Given the description of an element on the screen output the (x, y) to click on. 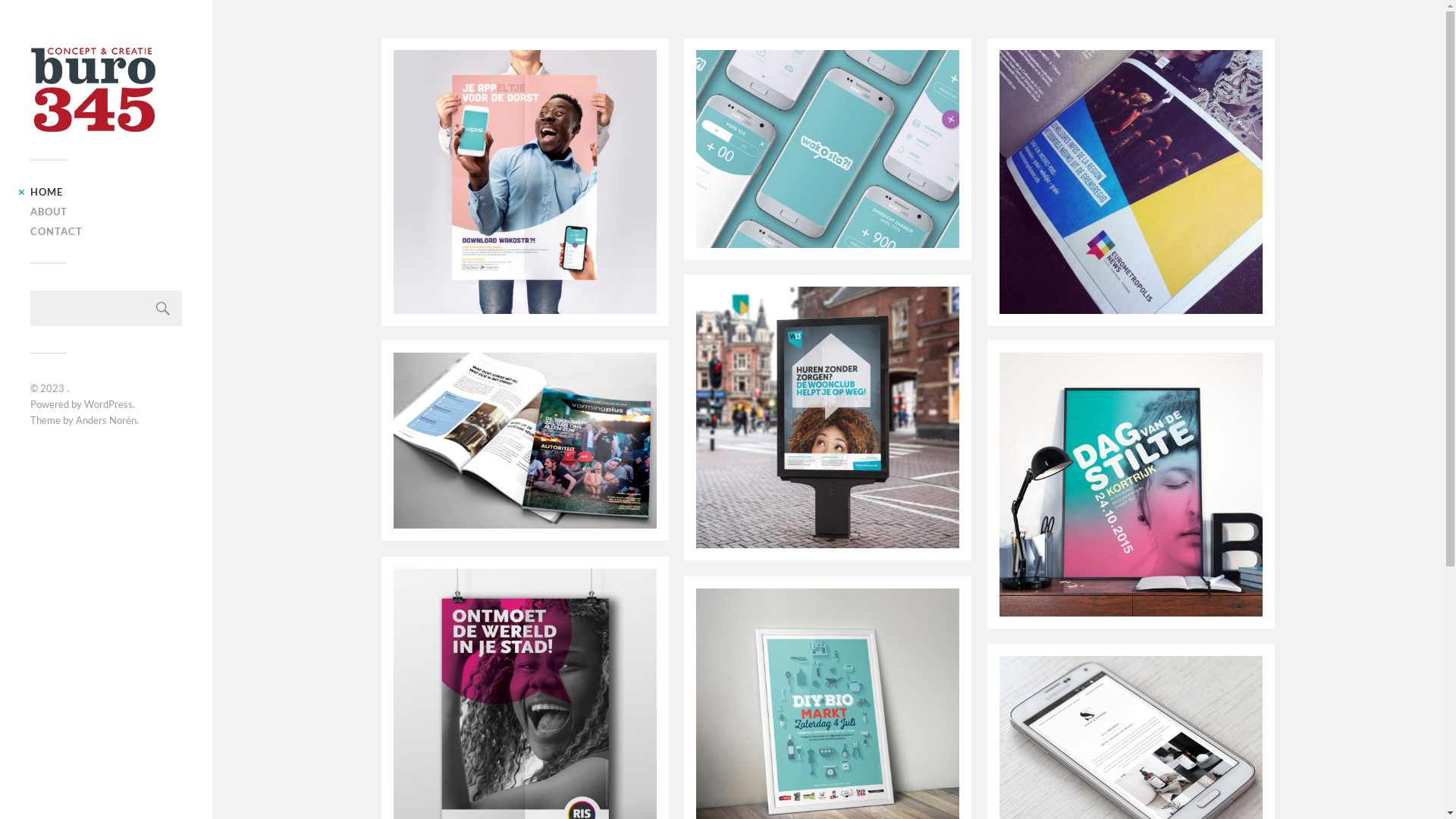
CONTACT Element type: text (56, 231)
ABOUT Element type: text (48, 211)
HOME Element type: text (46, 191)
Search Element type: text (163, 308)
WordPress Element type: text (108, 404)
